Given the description of an element on the screen output the (x, y) to click on. 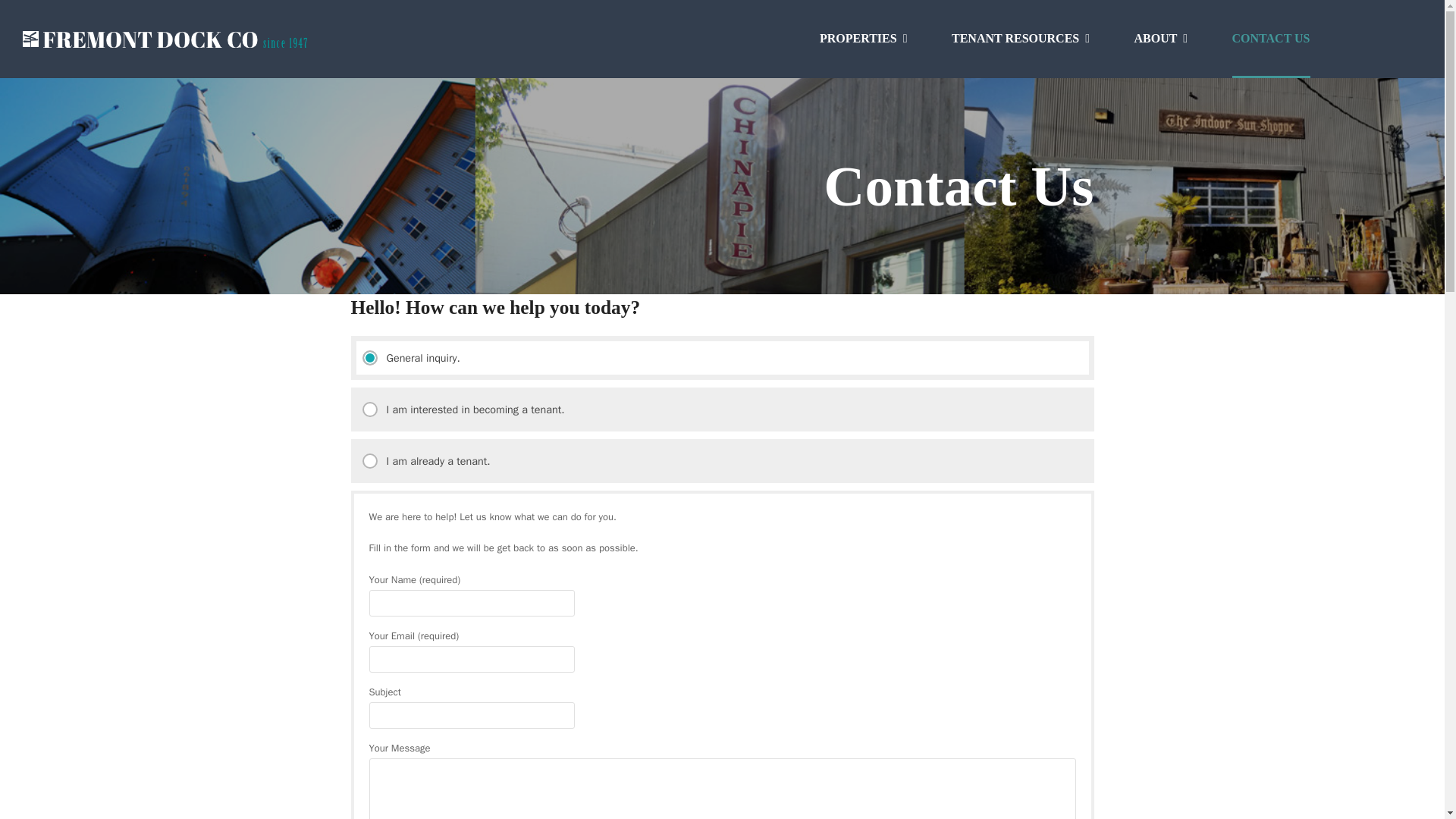
TENANT RESOURCES (1020, 38)
I am interested in becoming a tenant. (721, 409)
PROPERTIES (863, 38)
General inquiry. (721, 357)
I am already a tenant. (721, 460)
FACEBOOK (1363, 38)
INSTAGRAM (1412, 38)
CONTACT US (1270, 38)
